Given the description of an element on the screen output the (x, y) to click on. 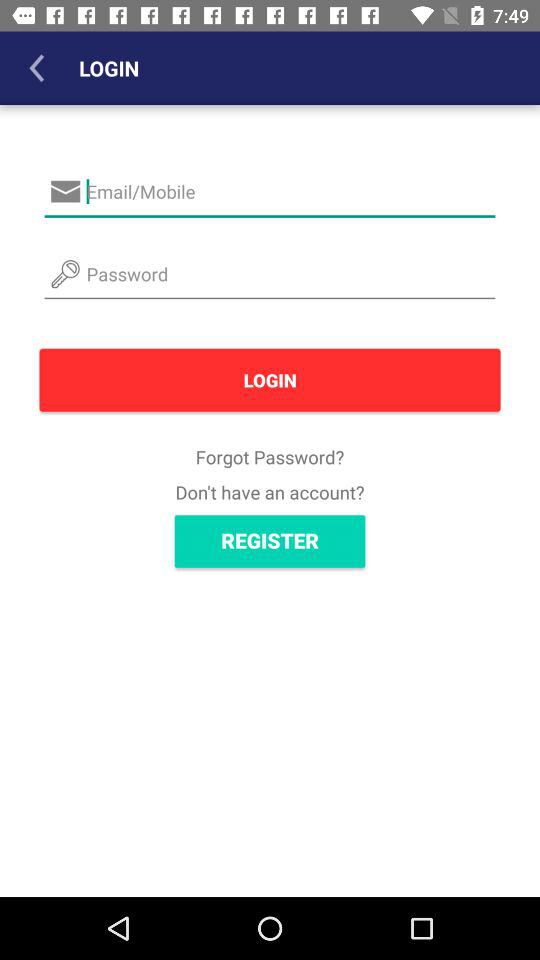
tap icon above the don t have (269, 456)
